Given the description of an element on the screen output the (x, y) to click on. 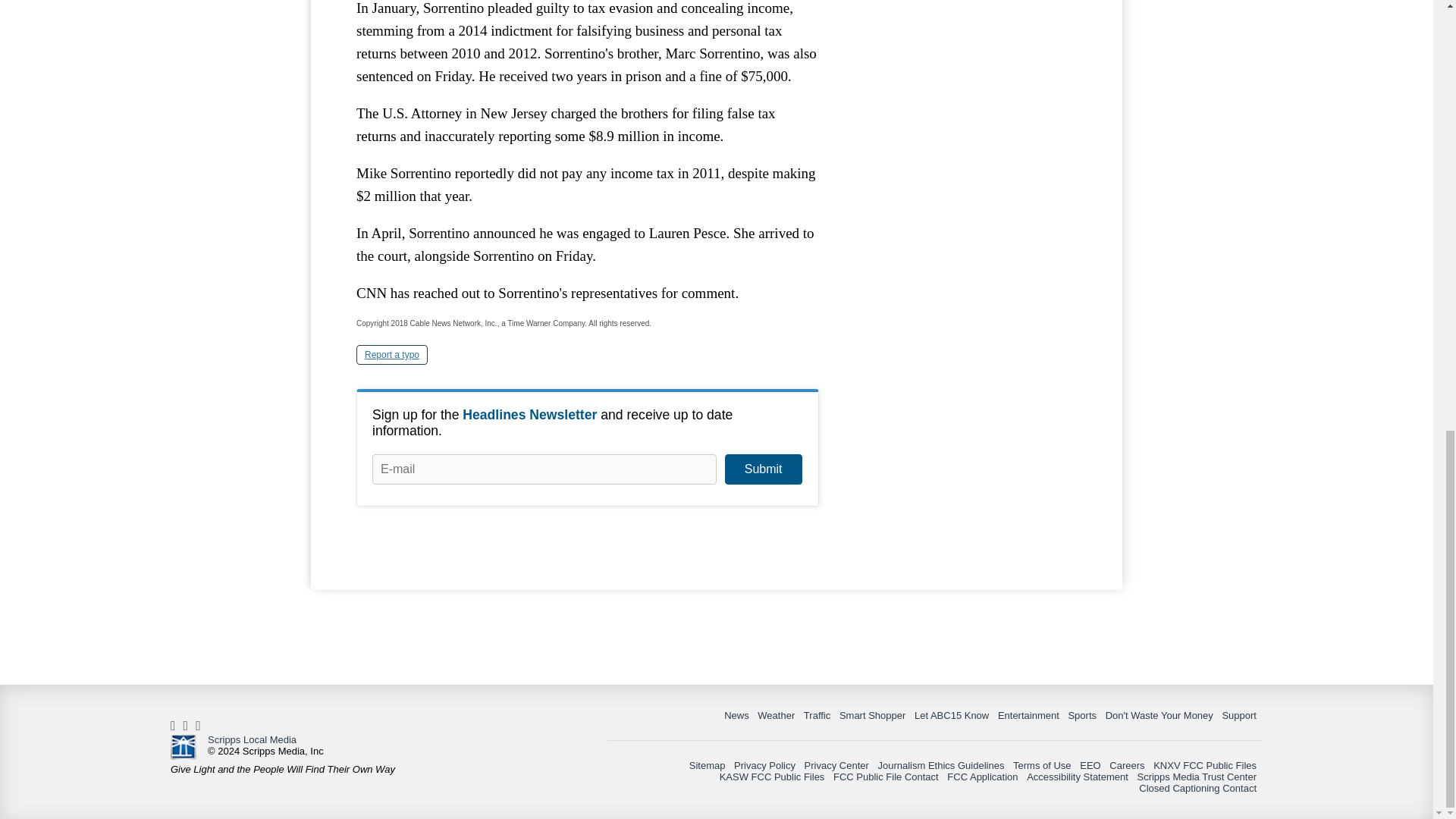
Submit (763, 469)
